Given the description of an element on the screen output the (x, y) to click on. 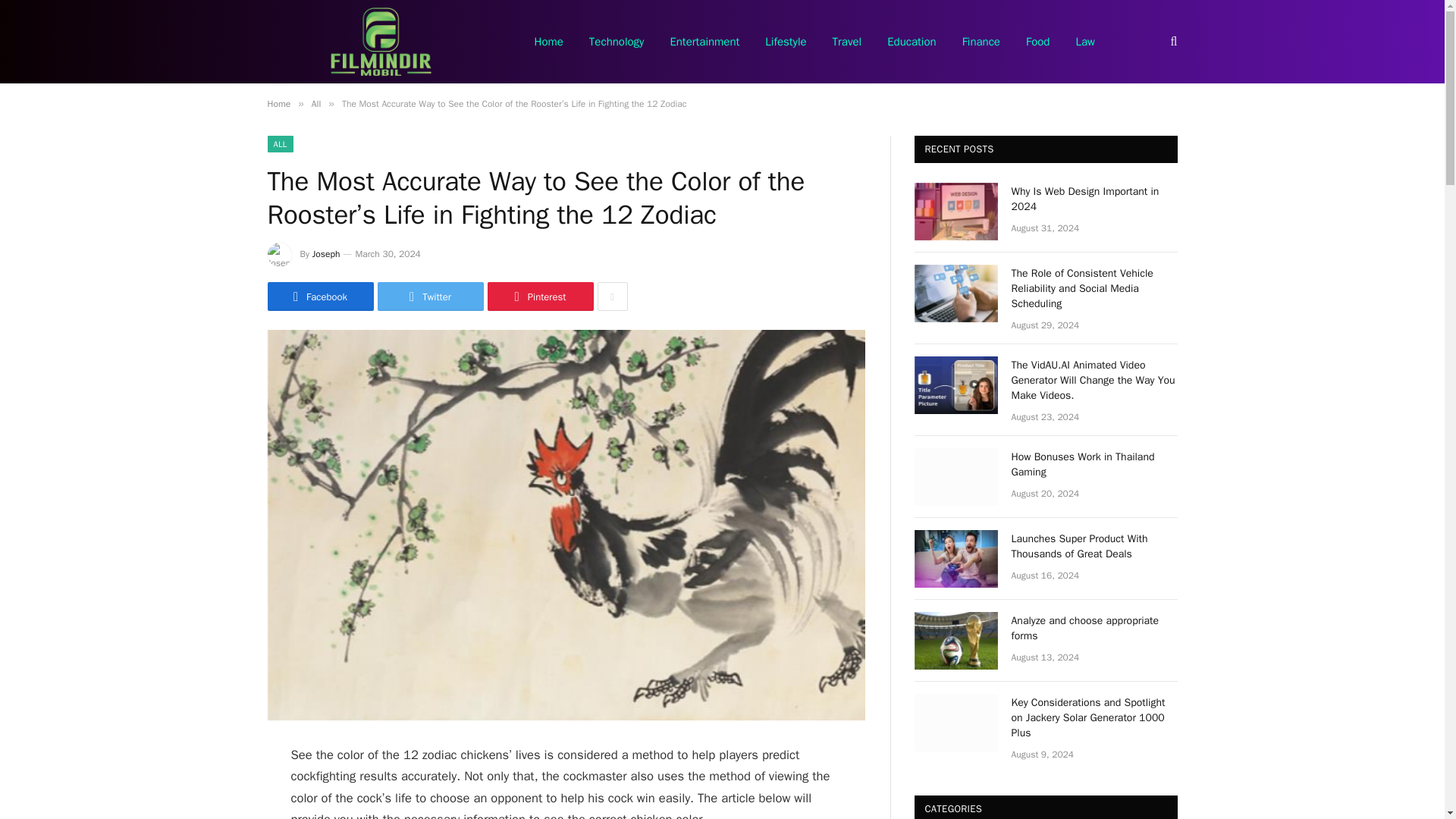
Entertainment (704, 41)
Share on Pinterest (539, 296)
Posts by Joseph (326, 254)
Filmindirmobil.net (380, 41)
Share on Facebook (319, 296)
Twitter (430, 296)
Joseph (326, 254)
Facebook (319, 296)
Technology (617, 41)
Education (912, 41)
